Given the description of an element on the screen output the (x, y) to click on. 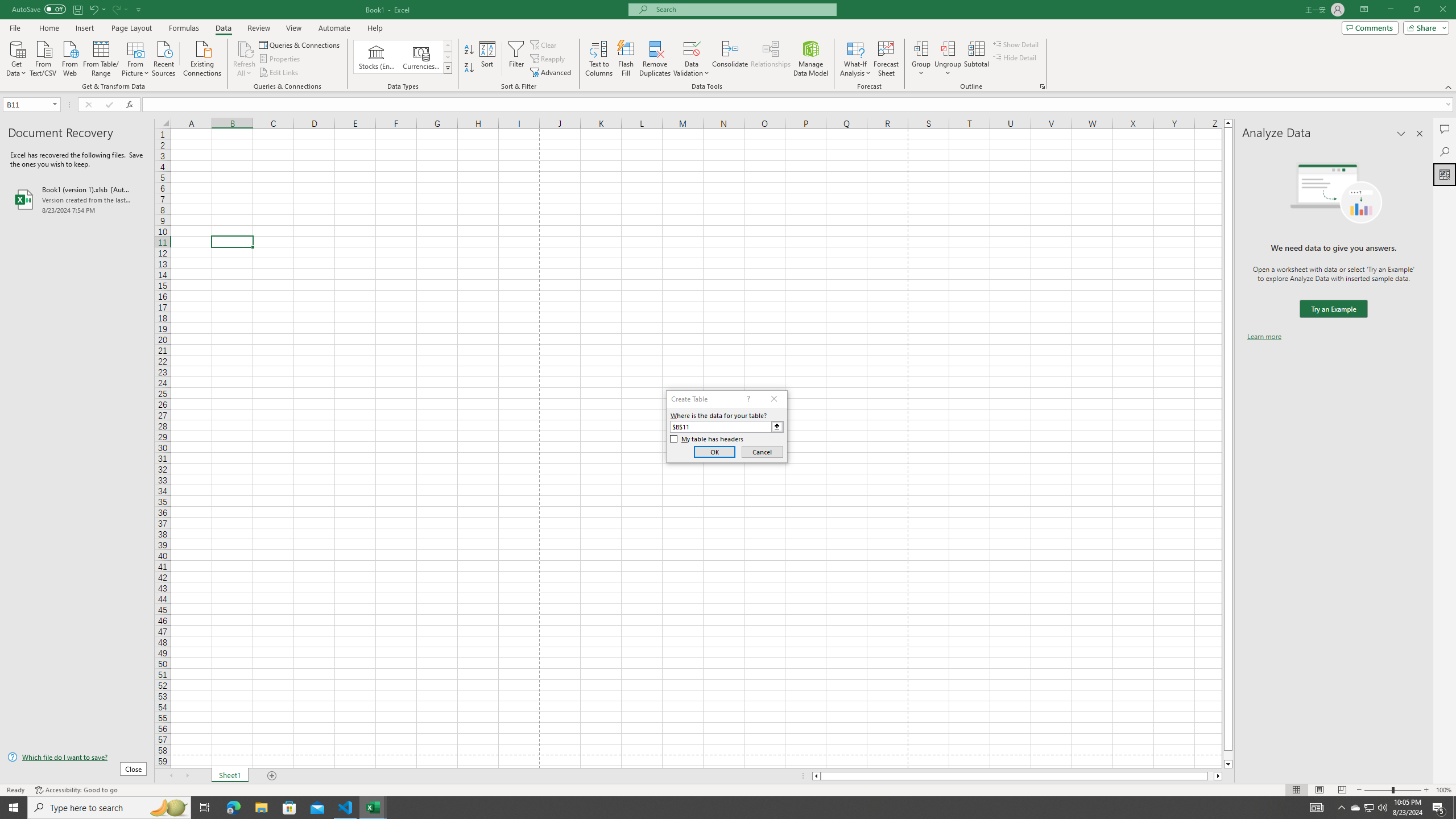
From Table/Range (100, 57)
Comments (1444, 128)
Sort A to Z (469, 49)
Zoom Out (1377, 790)
Refresh All (244, 58)
Manage Data Model (810, 58)
Hide Detail (1014, 56)
Insert (83, 28)
Flash Fill (625, 58)
Consolidate... (729, 58)
Class: NetUIScrollBar (1016, 775)
Data Validation... (691, 48)
Reapply (548, 58)
More Options (947, 68)
Currencies (English) (420, 56)
